Given the description of an element on the screen output the (x, y) to click on. 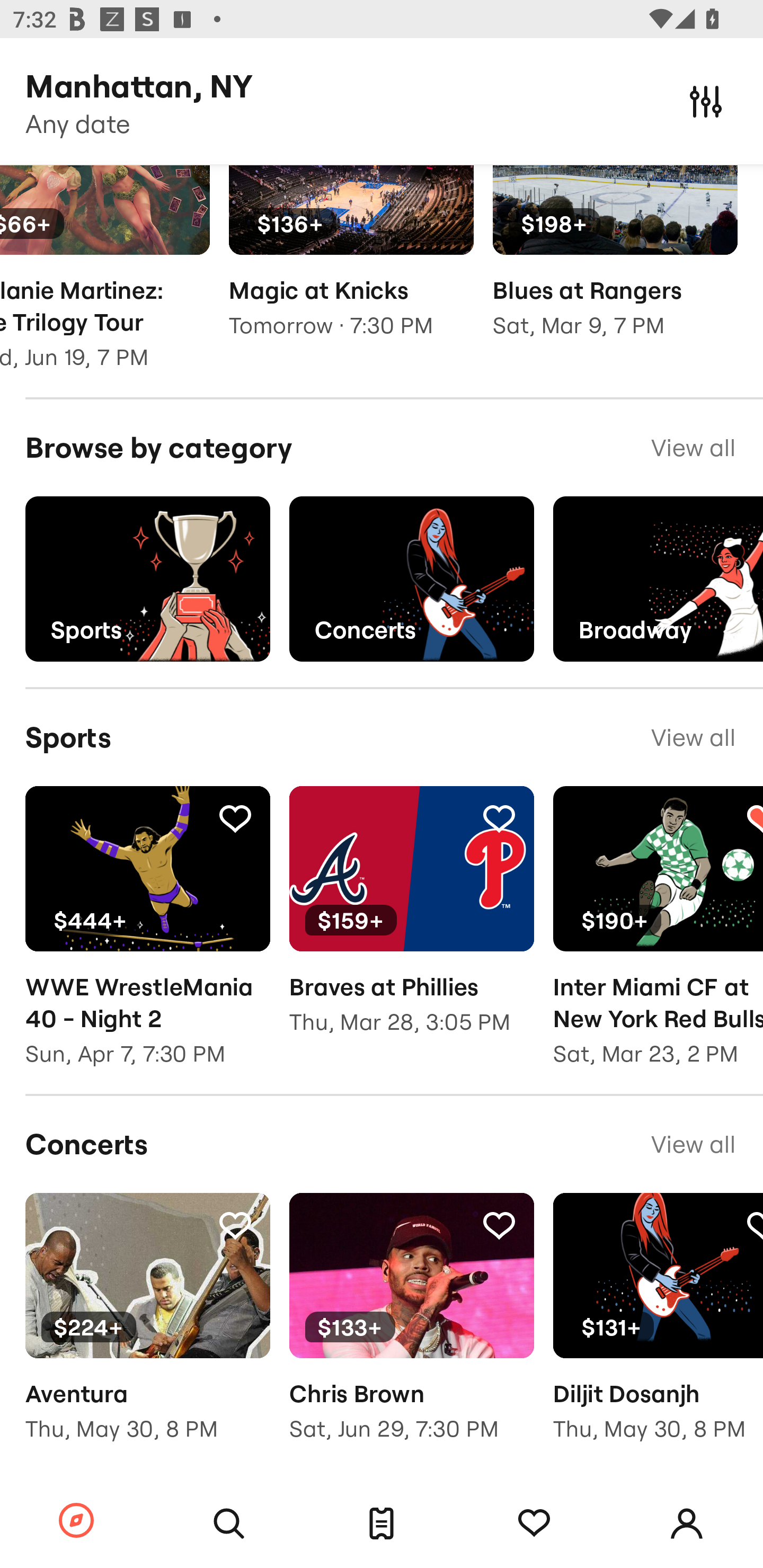
Close (705, 100)
$136+ Magic at Knicks Tomorrow · 7:30 PM (350, 263)
$198+ Blues at Rangers Sat, Mar 9, 7 PM (614, 263)
View all (693, 448)
Sports (147, 579)
Concerts (411, 579)
Broadway (658, 579)
View all (693, 737)
Tracking (234, 817)
Tracking (498, 817)
View all (693, 1144)
Tracking $224+ Aventura Thu, May 30, 8 PM (147, 1330)
Tracking $133+ Chris Brown Sat, Jun 29, 7:30 PM (411, 1330)
Tracking $131+ Diljit Dosanjh Thu, May 30, 8 PM (658, 1330)
Tracking (234, 1224)
Tracking (498, 1224)
Browse (76, 1521)
Search (228, 1523)
Tickets (381, 1523)
Tracking (533, 1523)
Account (686, 1523)
